Given the description of an element on the screen output the (x, y) to click on. 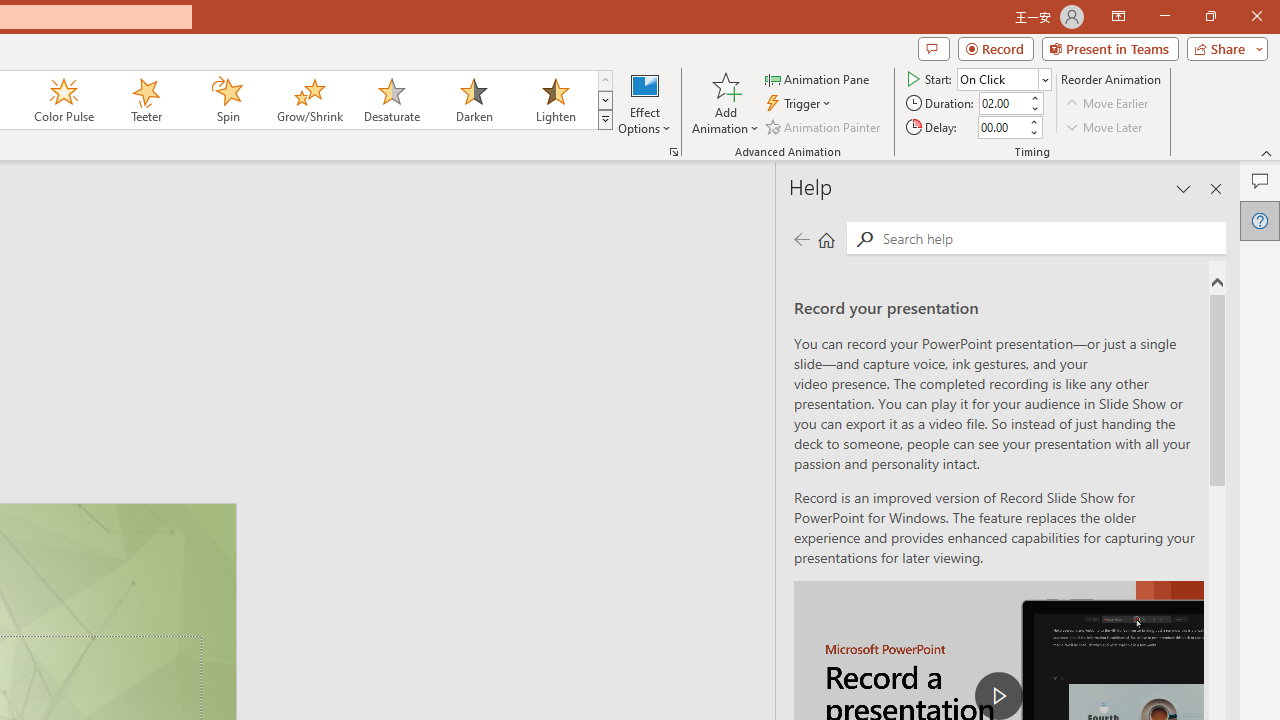
Grow/Shrink (309, 100)
Move Earlier (1107, 103)
Add Animation (725, 102)
Animation Delay (1002, 127)
Animation Duration (1003, 103)
